Given the description of an element on the screen output the (x, y) to click on. 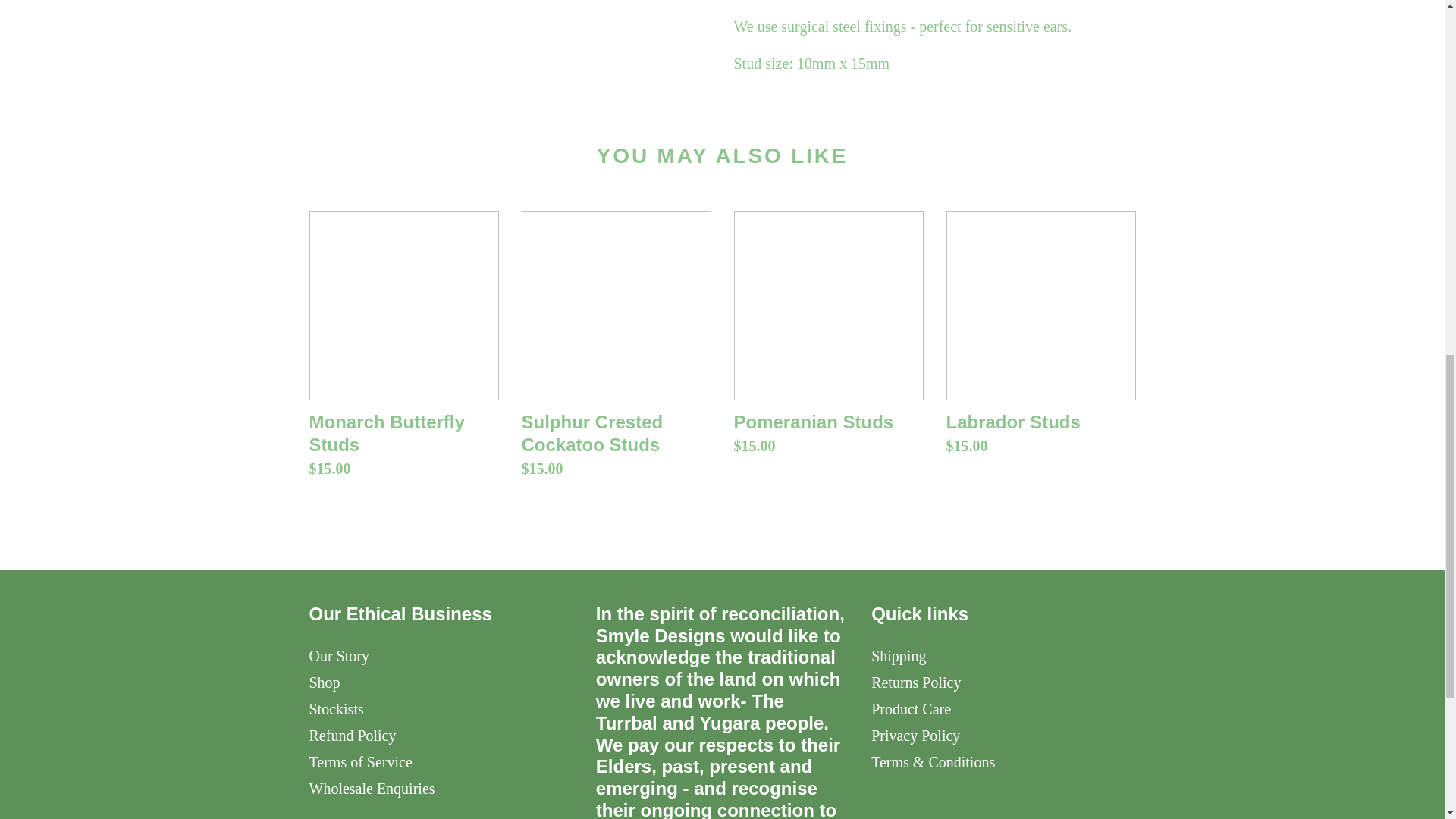
Our Story (338, 655)
Refund Policy (352, 735)
Wholesale Enquiries (371, 788)
Returns Policy (915, 682)
Stockists (336, 709)
Shipping (898, 655)
Product Care (910, 709)
Privacy Policy (914, 735)
Terms of Service (360, 761)
Shop (324, 682)
